Given the description of an element on the screen output the (x, y) to click on. 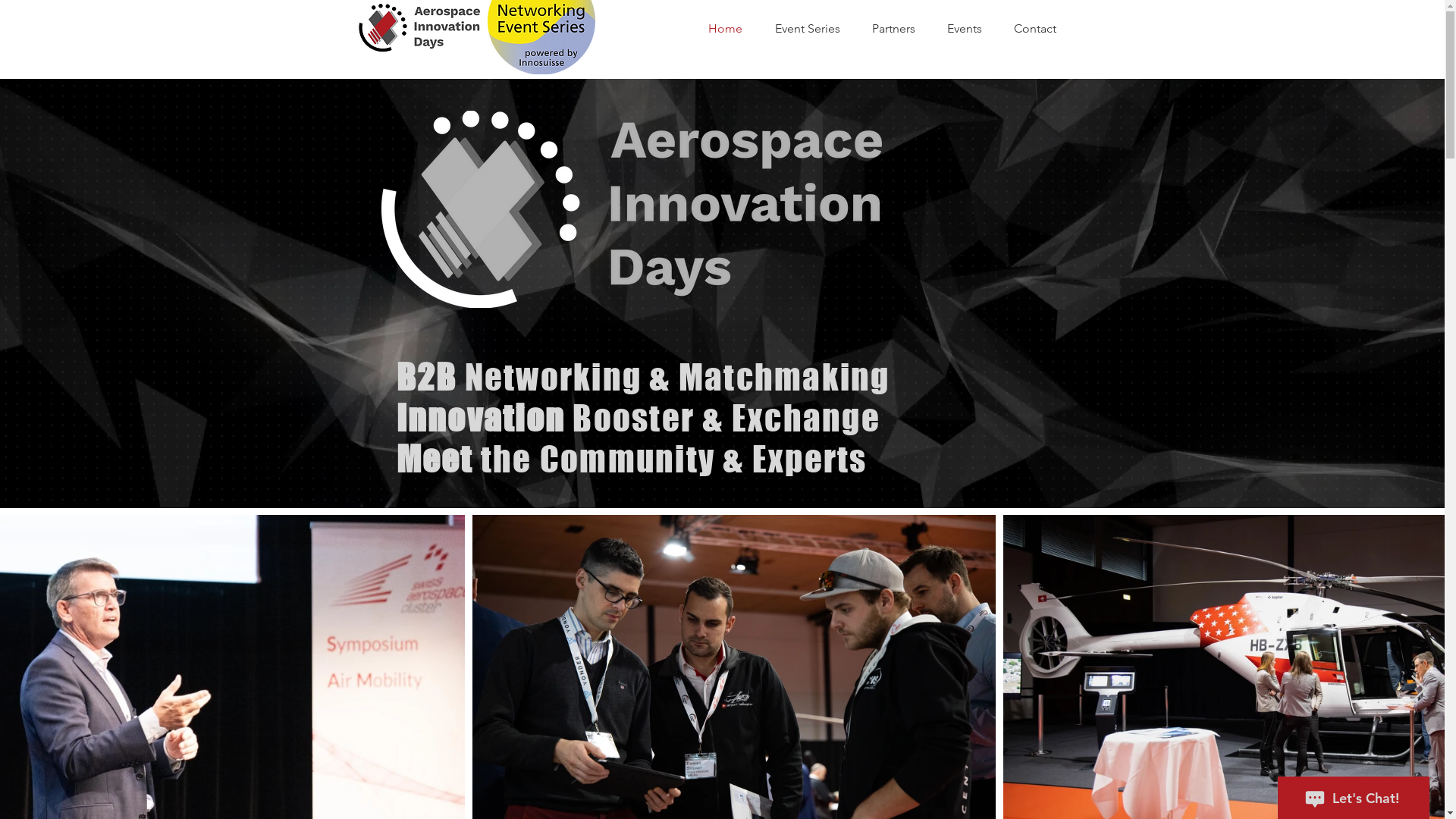
Contact Element type: text (1042, 28)
Visitor Analytics Element type: hover (1440, 3)
Partners Element type: text (901, 28)
Home Element type: text (733, 28)
Original on Transparent.png Element type: hover (630, 208)
Event Series Element type: text (815, 28)
Events Element type: text (971, 28)
